Given the description of an element on the screen output the (x, y) to click on. 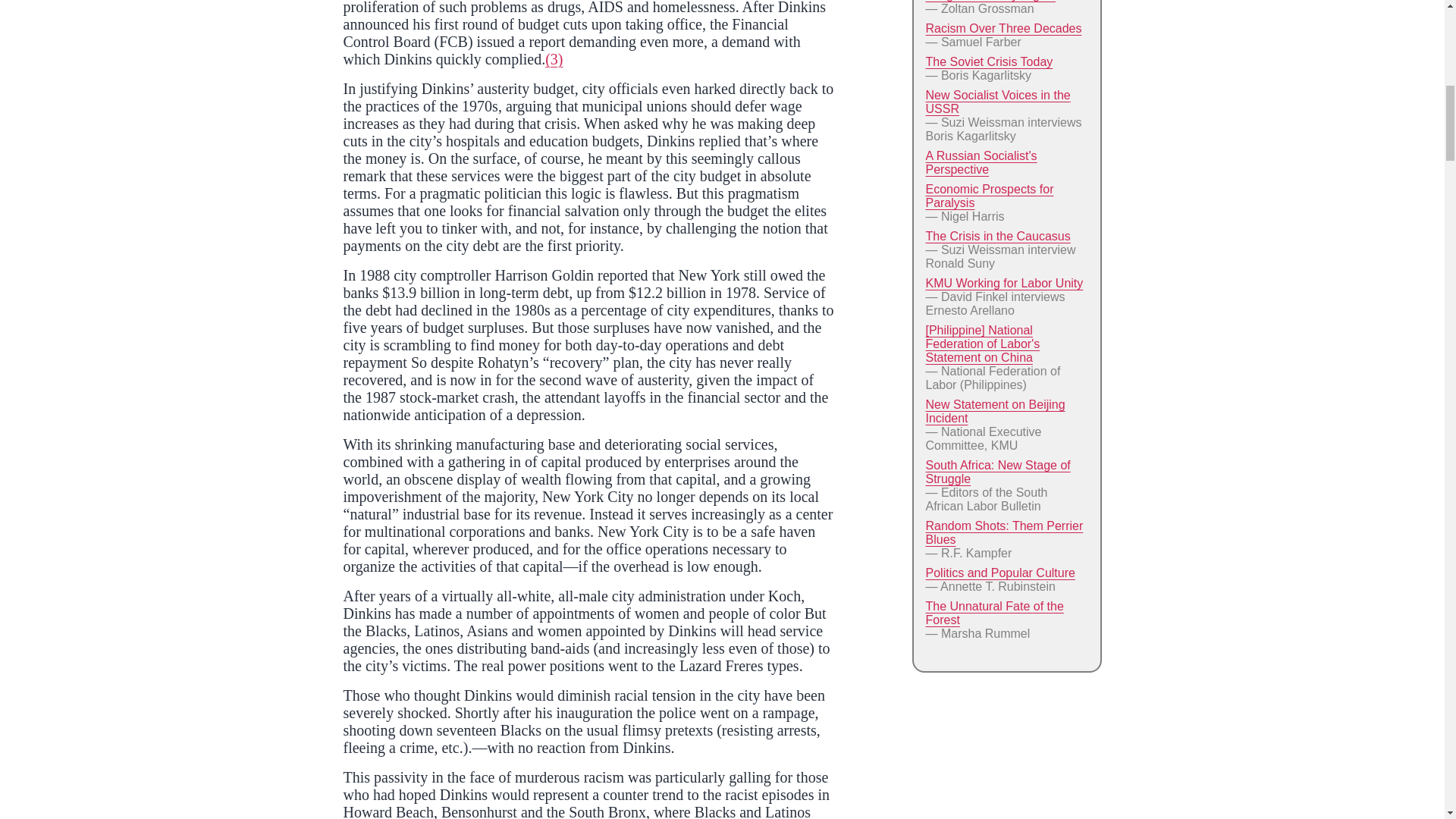
South Africa: New Stage of Struggle (997, 471)
The Crisis in the Caucasus (997, 236)
The Soviet Crisis Today (988, 61)
Racism Over Three Decades (1002, 28)
A Russian Socialist's Perspective (980, 162)
A Fight for Treaty Rights (989, 0)
New Statement on Beijing Incident (994, 411)
Economic Prospects for Paralysis (988, 195)
KMU Working for Labor Unity (1003, 282)
New Socialist Voices in the USSR (997, 101)
